Given the description of an element on the screen output the (x, y) to click on. 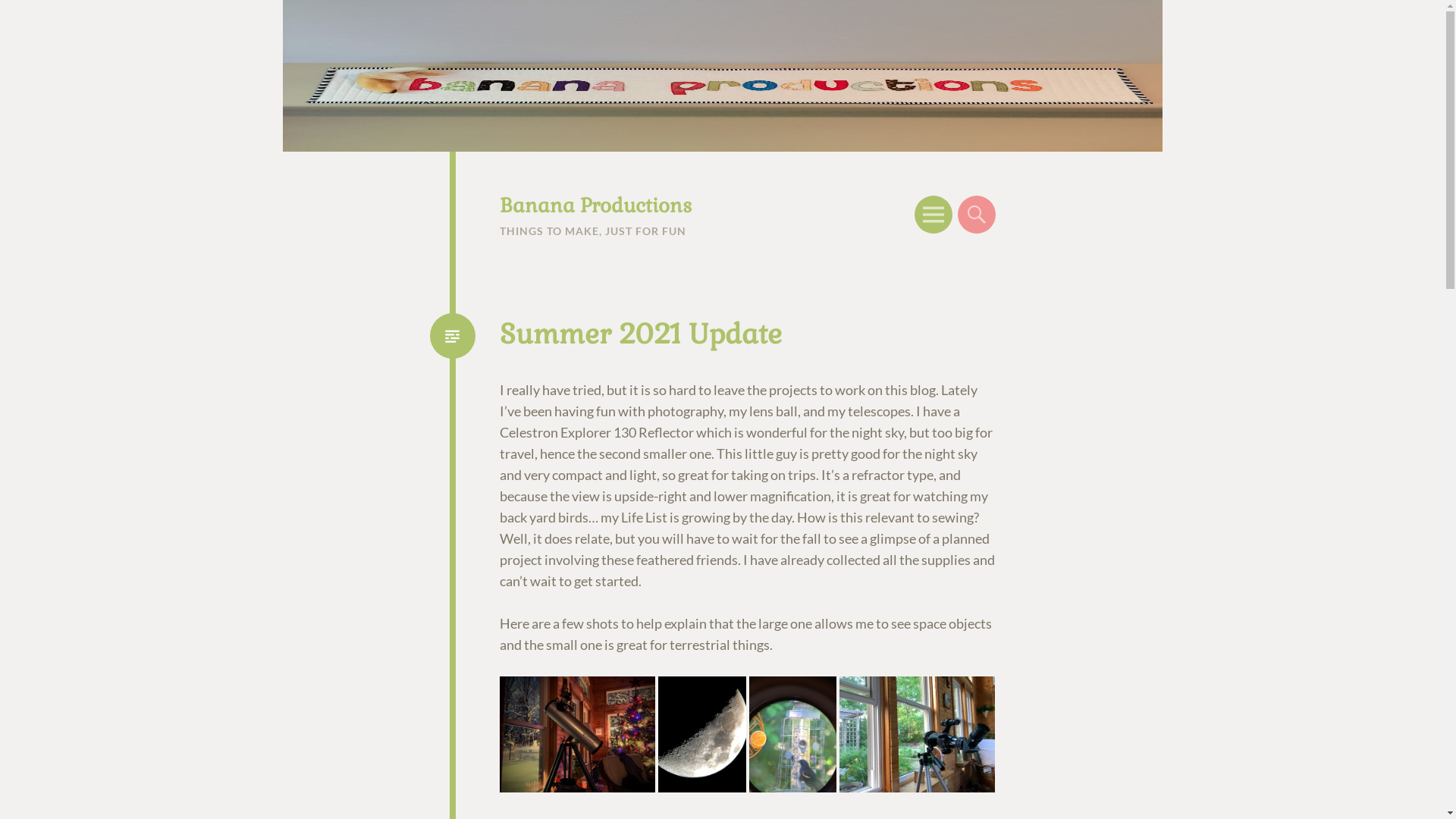
Search Element type: hover (975, 214)
Menu Element type: hover (933, 214)
Banana Productions Element type: text (594, 205)
